Given the description of an element on the screen output the (x, y) to click on. 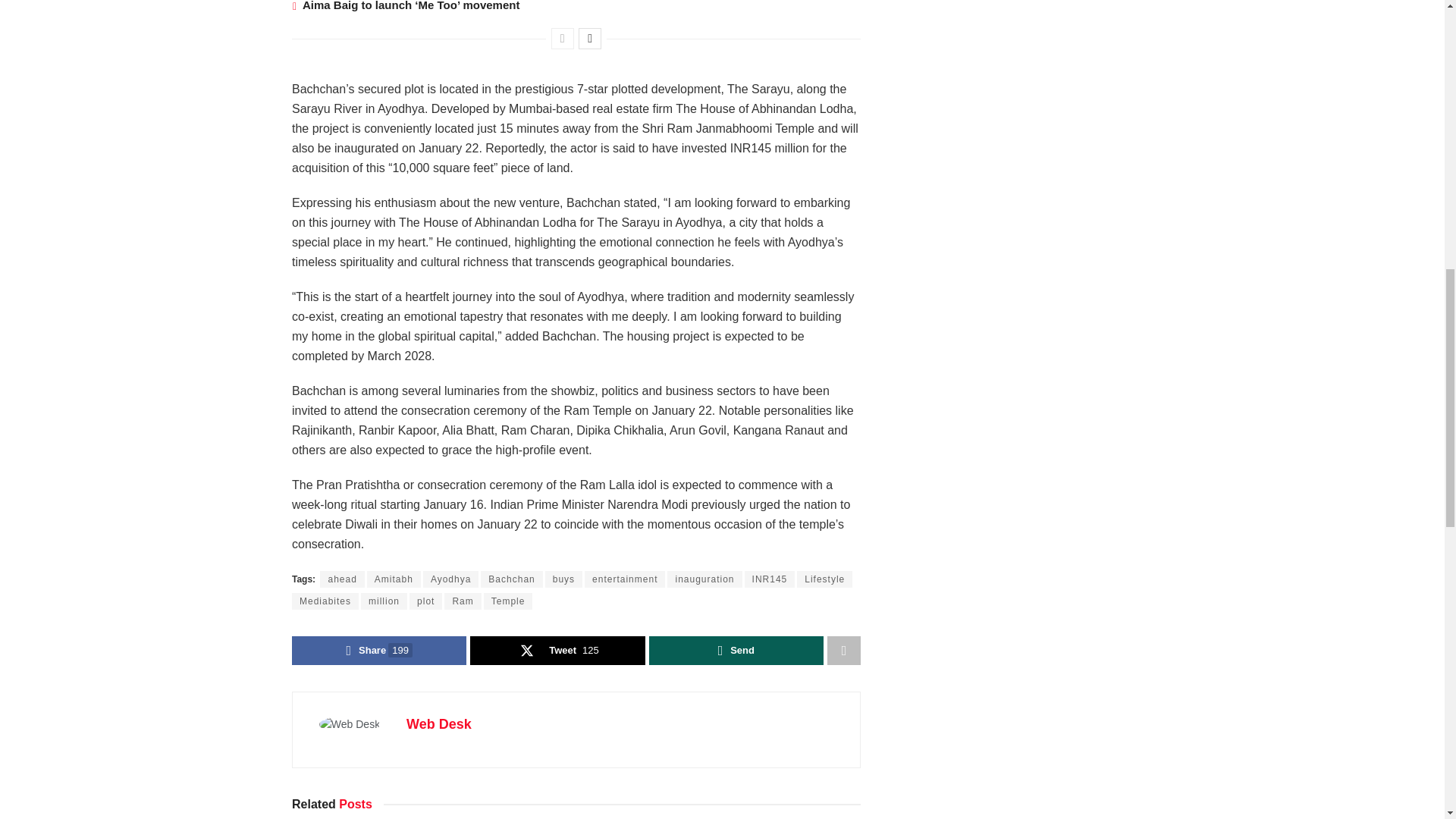
Dania Shah remarries her lawyer, Hakeem Shahzad Loha Paar (136, 5)
